Given the description of an element on the screen output the (x, y) to click on. 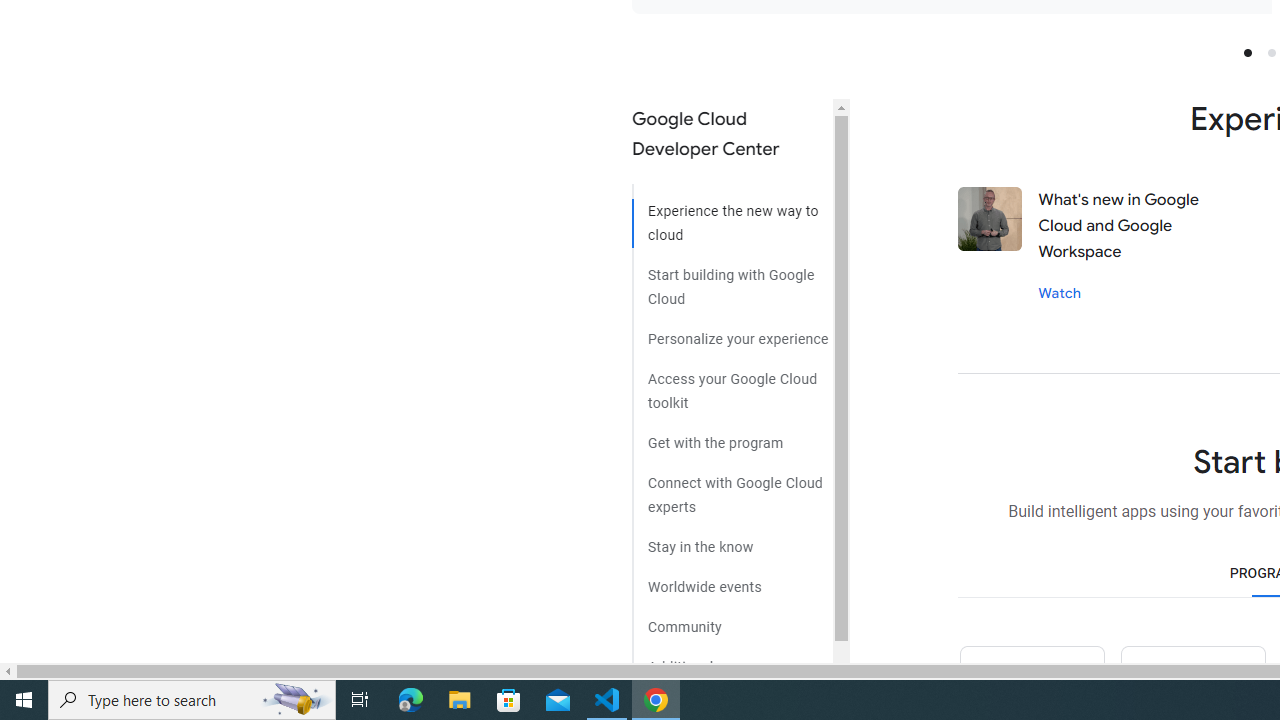
Worldwide events (732, 579)
Experience the new way to cloud (732, 215)
Access your Google Cloud toolkit (732, 384)
Community (732, 619)
Stay in the know (732, 539)
Personalize your experience (732, 331)
Get with the program (732, 435)
Java icon (1192, 682)
Start building with Google Cloud (732, 279)
Connect with Google Cloud experts (732, 487)
Watch (1059, 292)
Additional resources (732, 659)
Slide 2 (1271, 52)
Python icon (1031, 682)
